Given the description of an element on the screen output the (x, y) to click on. 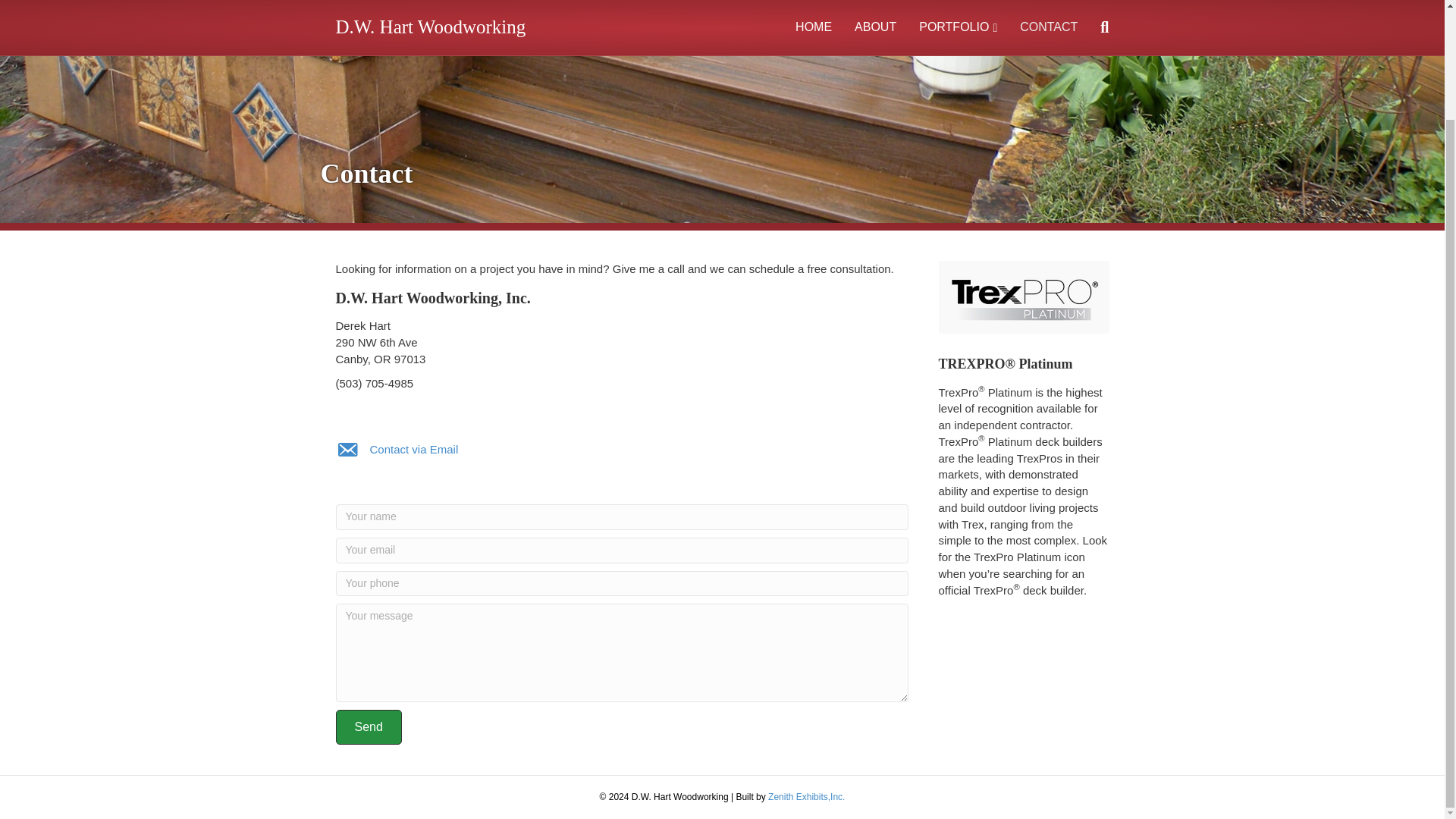
trex-pro-platinum-logo (1024, 297)
Small Business Website Development (806, 796)
Send (367, 726)
Contact via Email (413, 449)
Zenith Exhibits,Inc. (806, 796)
